Given the description of an element on the screen output the (x, y) to click on. 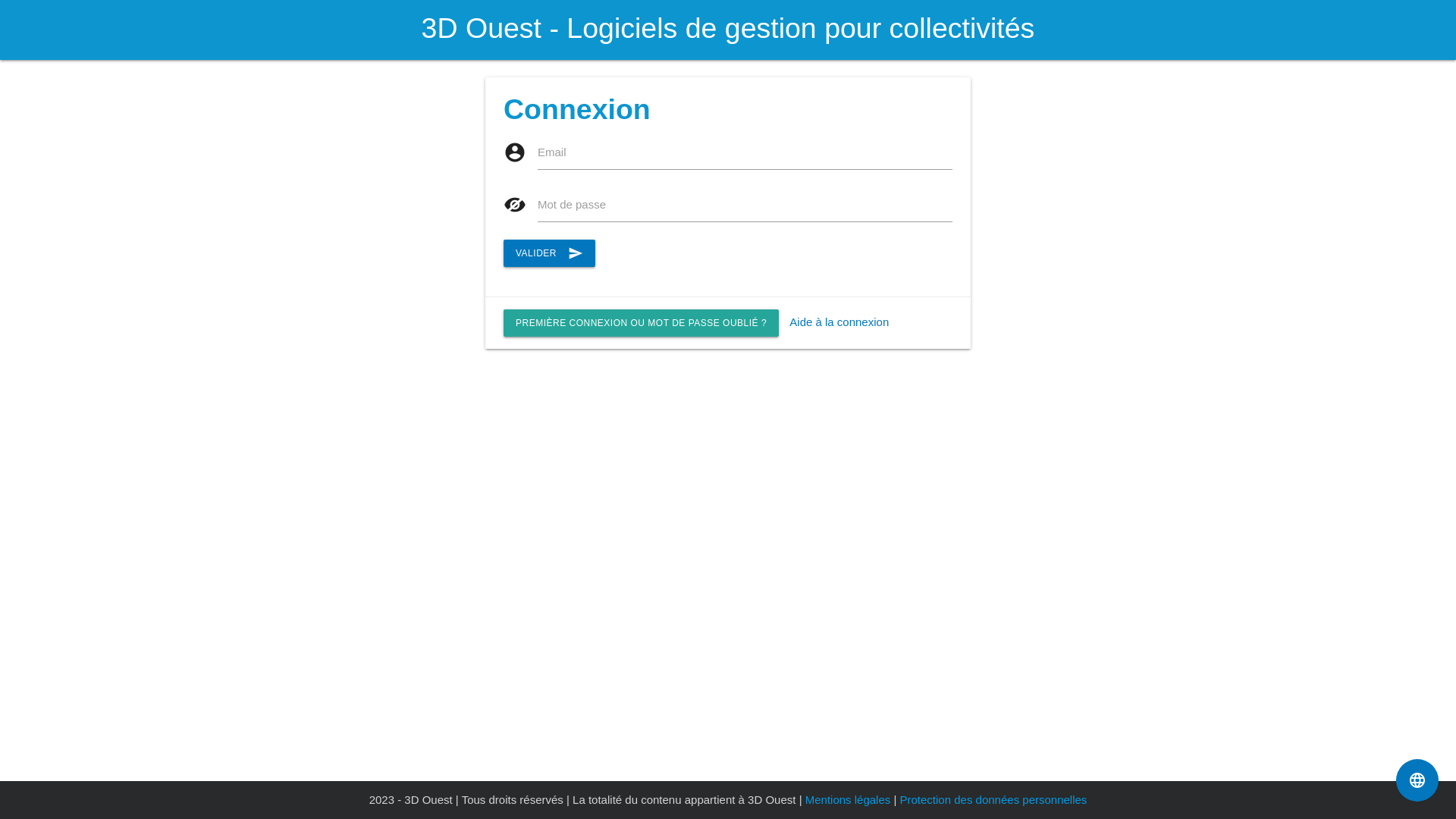
send
VALIDER Element type: text (549, 252)
language Element type: text (1417, 780)
